Given the description of an element on the screen output the (x, y) to click on. 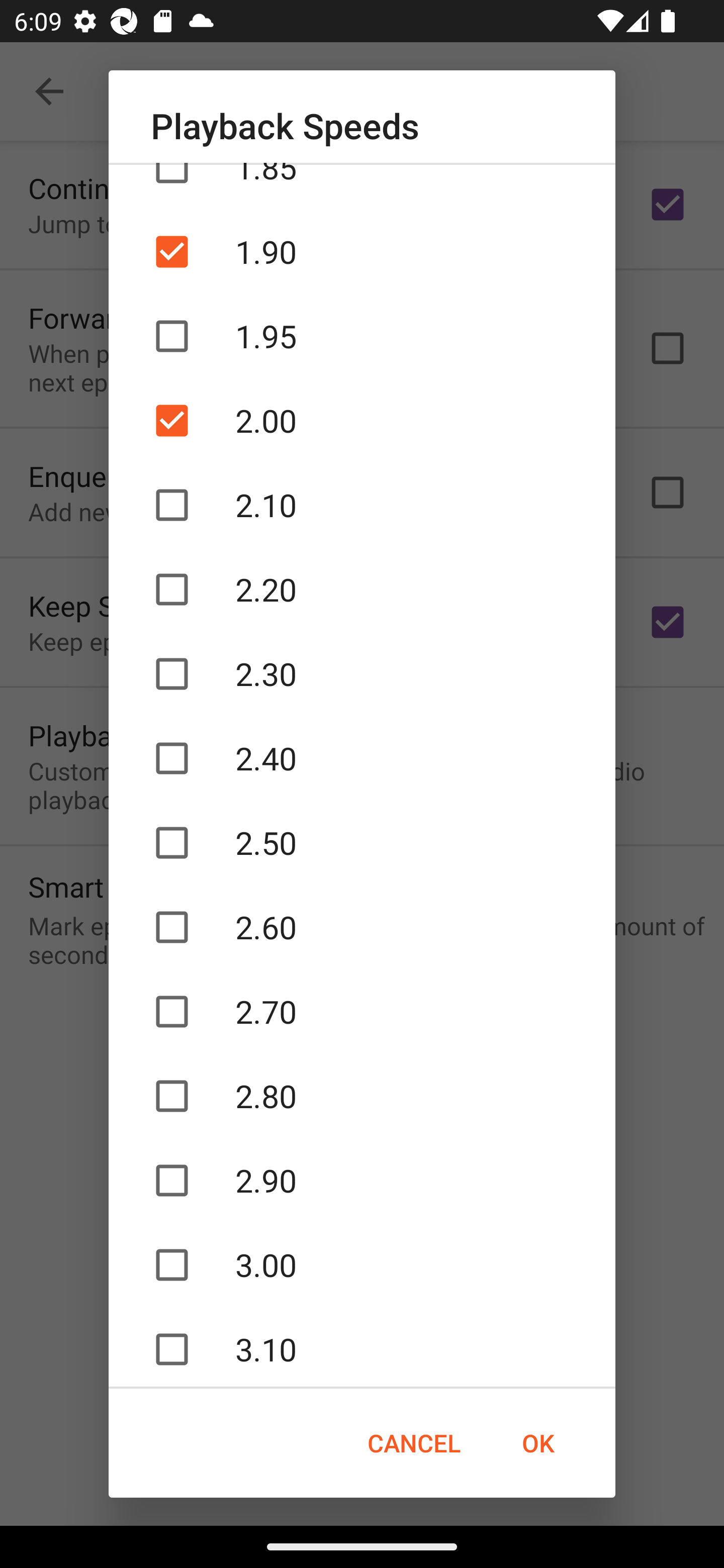
1.90 (361, 252)
1.95 (361, 335)
2.00 (361, 419)
2.10 (361, 504)
2.20 (361, 589)
2.30 (361, 673)
2.40 (361, 758)
2.50 (361, 842)
2.60 (361, 926)
2.70 (361, 1011)
2.80 (361, 1095)
2.90 (361, 1180)
3.00 (361, 1265)
3.10 (361, 1348)
CANCEL (413, 1443)
OK (537, 1443)
